Given the description of an element on the screen output the (x, y) to click on. 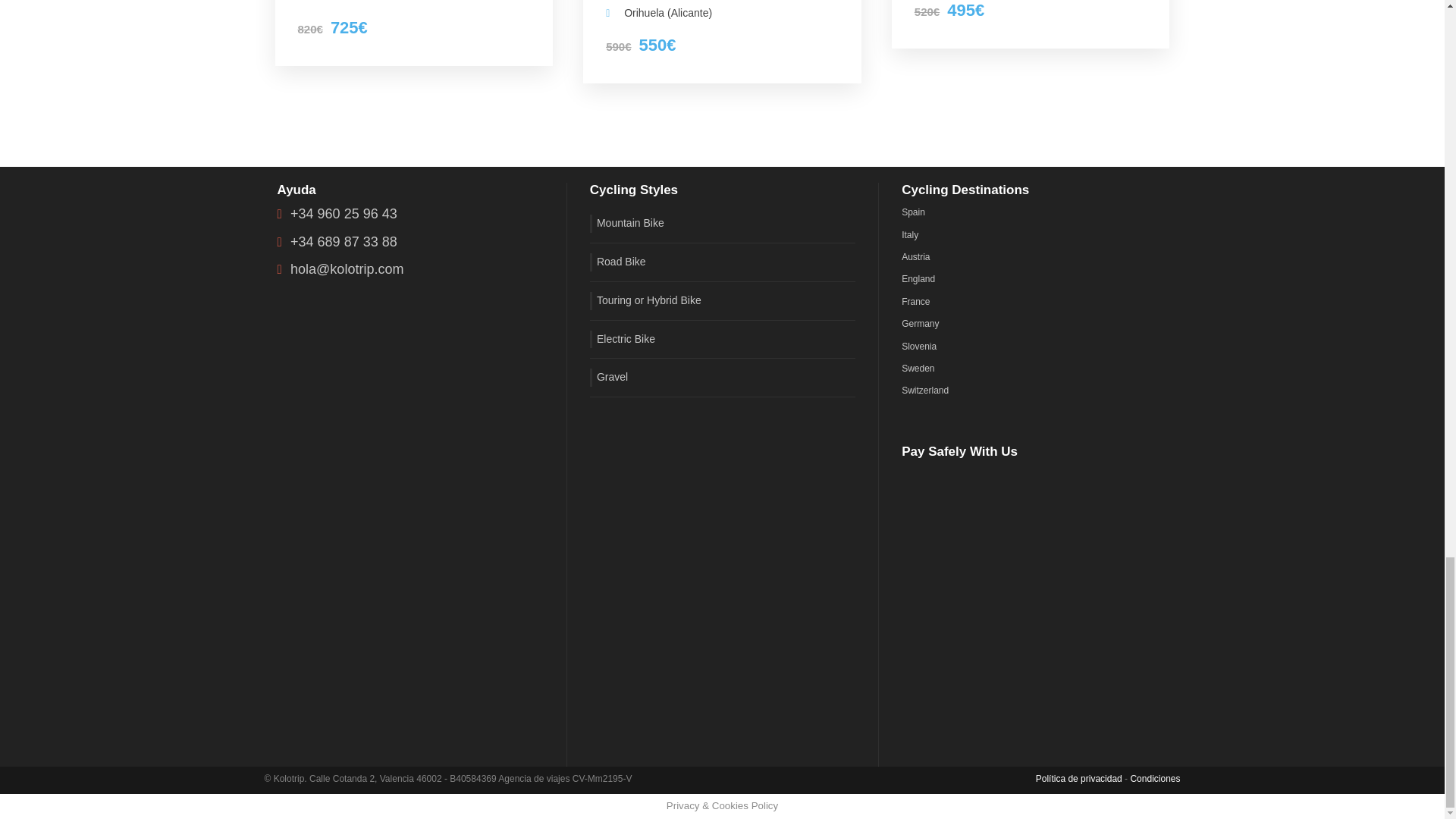
England (917, 278)
Italy (909, 235)
Electric Bike (622, 339)
Austria (915, 256)
Gravel (608, 377)
Mountain Bike (626, 223)
Spain (912, 212)
Road Bike (617, 262)
Touring or Hybrid Bike (645, 300)
